Given the description of an element on the screen output the (x, y) to click on. 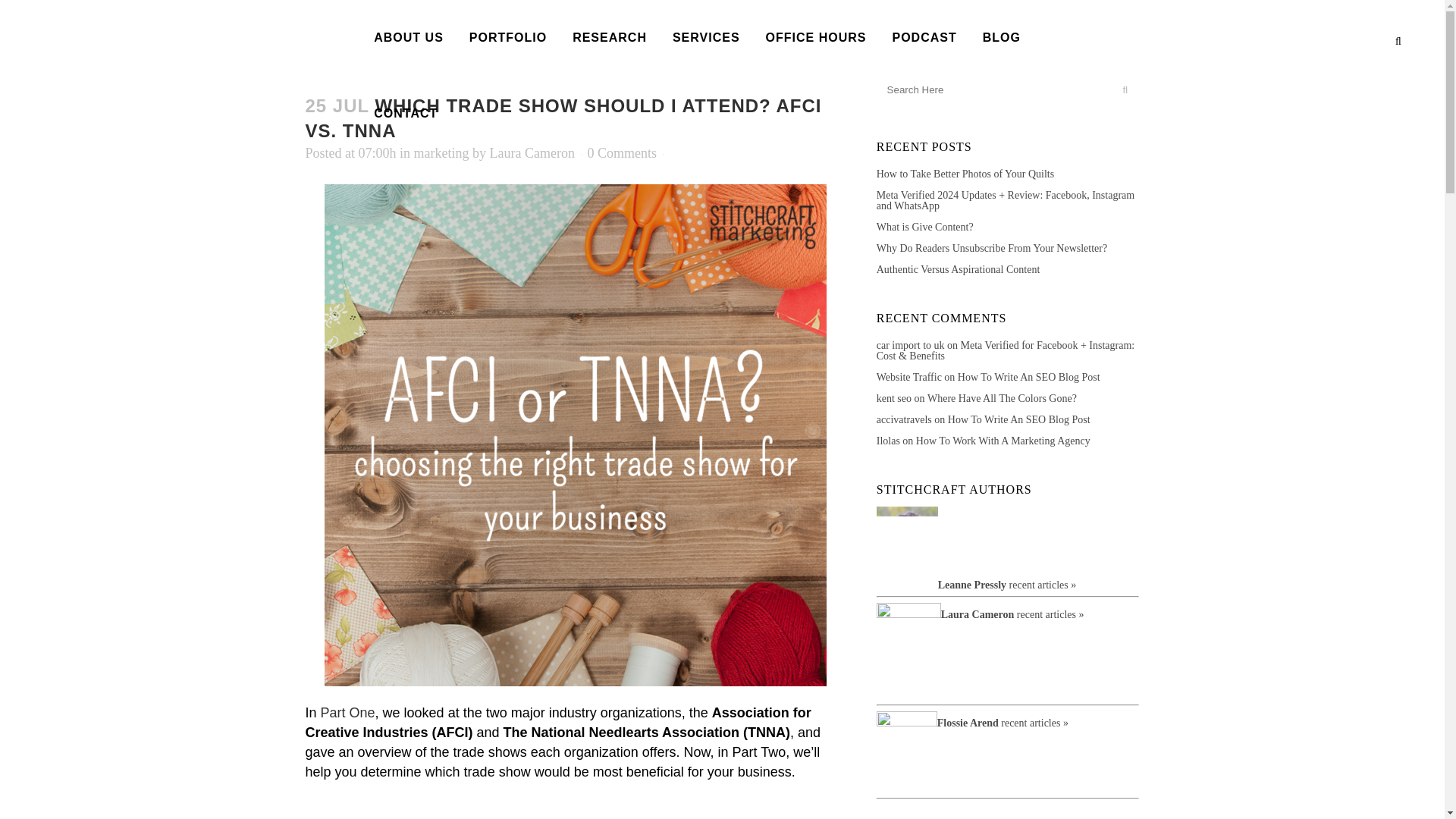
RESEARCH (609, 38)
ABOUT US (409, 38)
PORTFOLIO (508, 38)
PODCAST (924, 38)
marketing (440, 152)
CONTACT (405, 113)
Laura Cameron (532, 152)
SERVICES (705, 38)
Part One (347, 712)
0 Comments (623, 152)
